Given the description of an element on the screen output the (x, y) to click on. 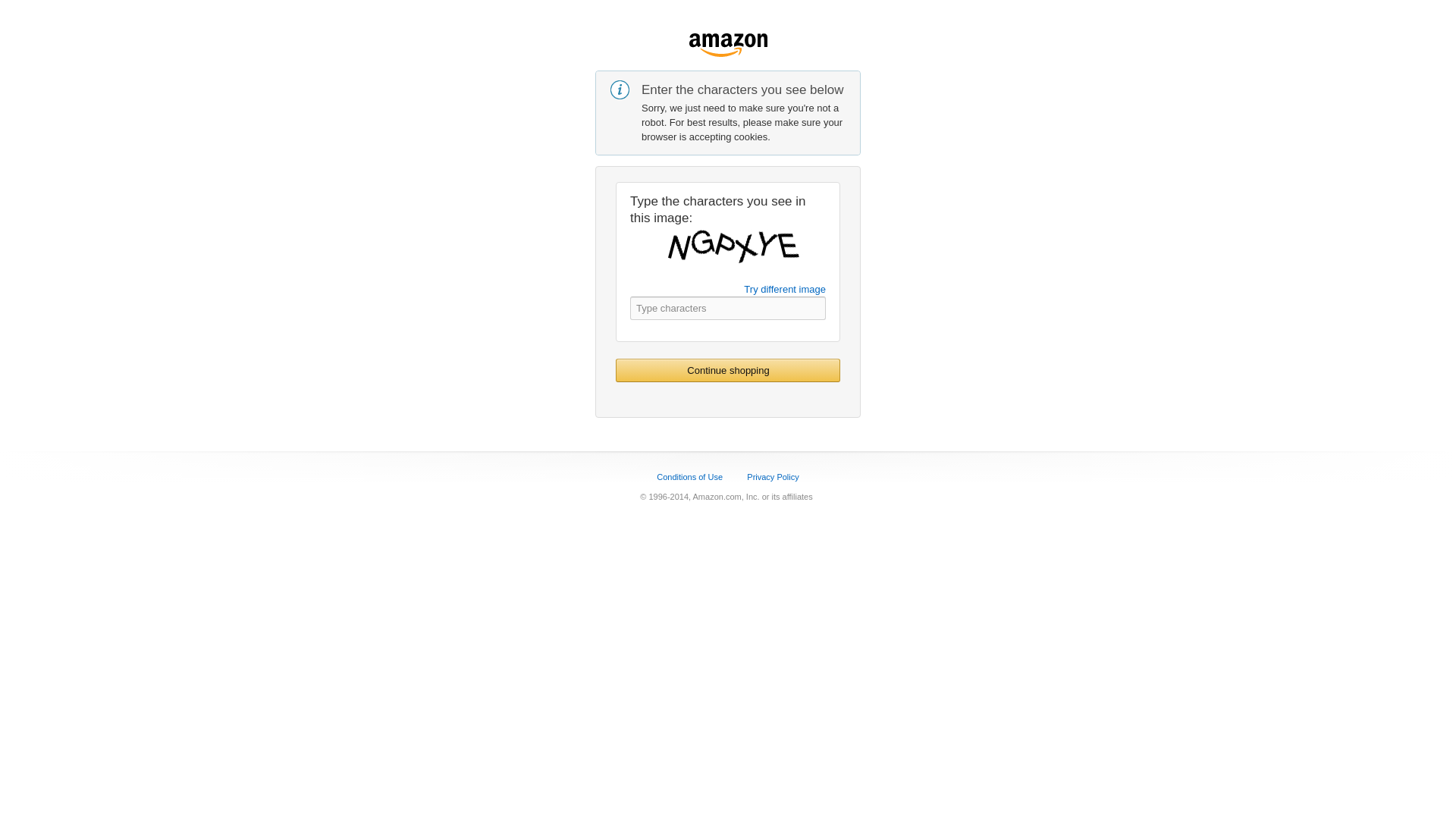
Try different image (784, 288)
Privacy Policy (771, 476)
Continue shopping (727, 370)
Conditions of Use (689, 476)
